Given the description of an element on the screen output the (x, y) to click on. 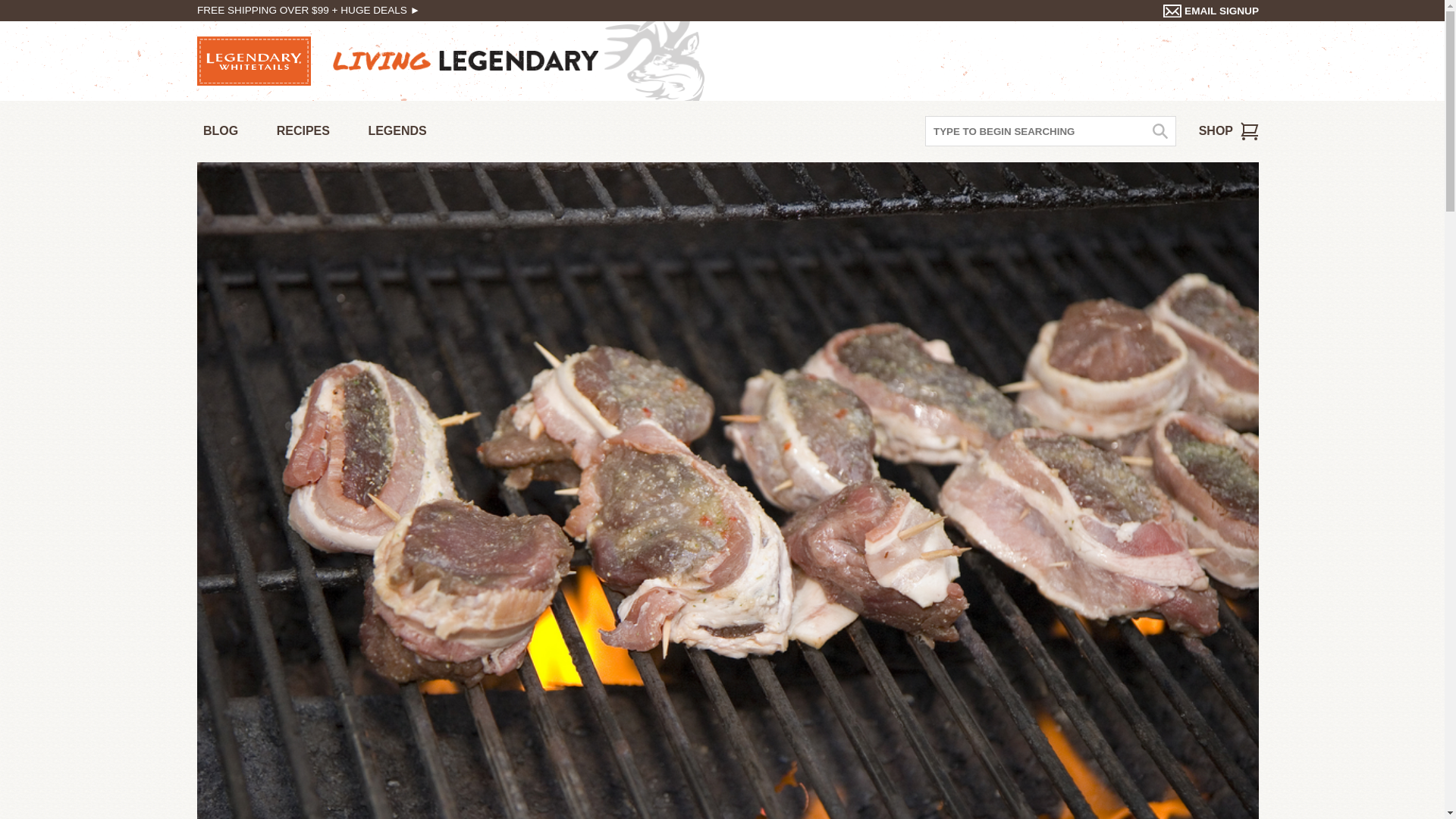
SHOP (1228, 131)
EMAIL SIGNUP (1211, 10)
LEGENDS (396, 131)
BLOG (220, 131)
RECIPES (303, 131)
